Given the description of an element on the screen output the (x, y) to click on. 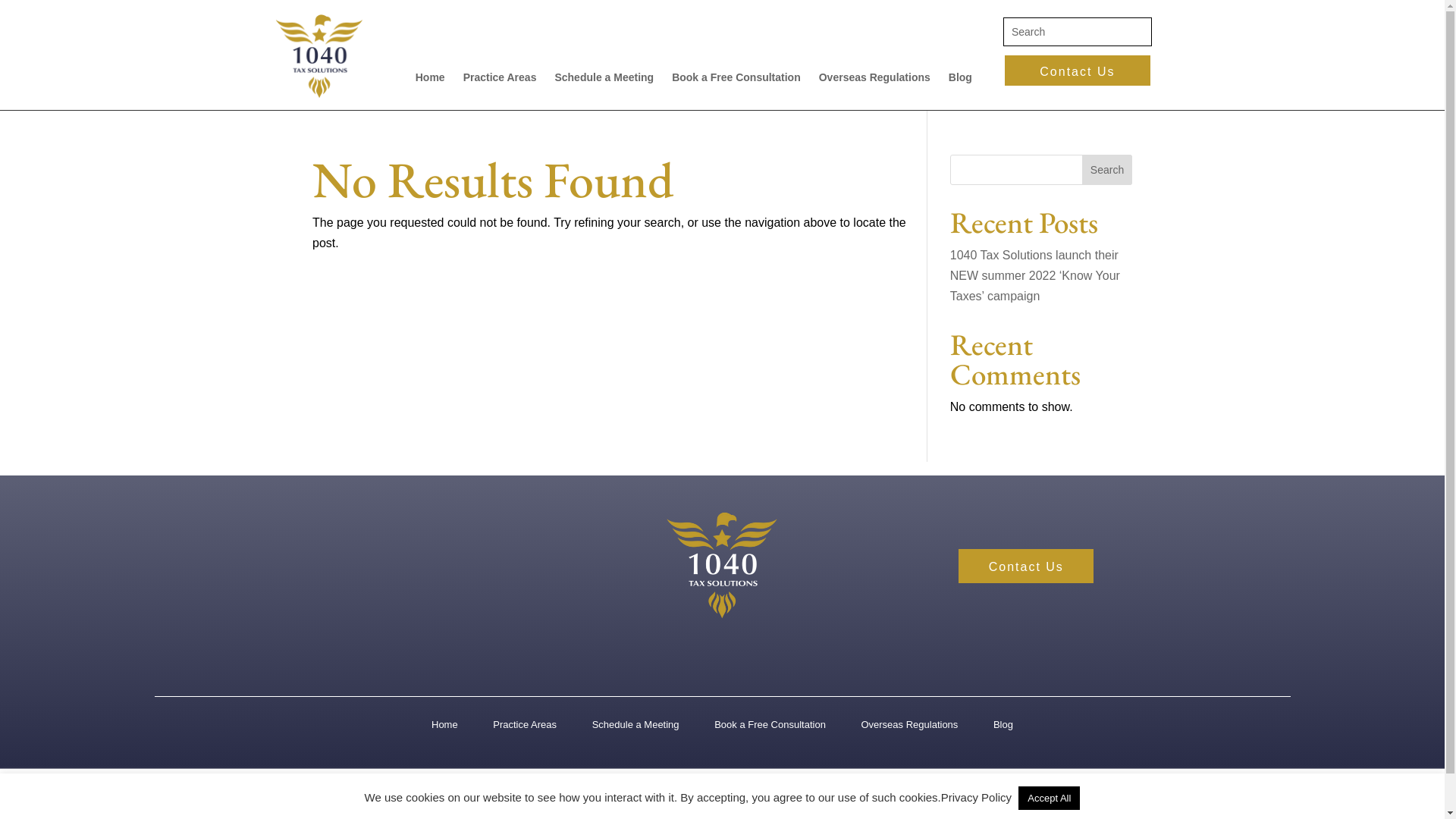
Accept All Element type: text (1048, 797)
Search Element type: text (24, 13)
Overseas Regulations Element type: text (908, 727)
Home Element type: text (429, 76)
2_ Screen_ SecondaryLogo-Gold&Blue_ -05 Element type: hover (317, 55)
Blog Element type: text (960, 76)
Schedule a Meeting Element type: text (635, 727)
Home Element type: text (444, 727)
Book a Free Consultation Element type: text (736, 76)
Contact Us Element type: text (1025, 565)
Privacy Policy Element type: text (685, 811)
Cookies Policy Element type: text (756, 811)
Blog Element type: text (1003, 727)
Overseas Regulations Element type: text (874, 76)
Practice Areas Element type: text (524, 727)
Book a Free Consultation Element type: text (769, 727)
Search Element type: text (1107, 169)
Schedule a Meeting Element type: text (603, 76)
Practice Areas Element type: text (499, 76)
3_ Screen_ Logo Refresh_GOLD&White copy Element type: hover (721, 564)
Contact Us Element type: text (1077, 70)
